Given the description of an element on the screen output the (x, y) to click on. 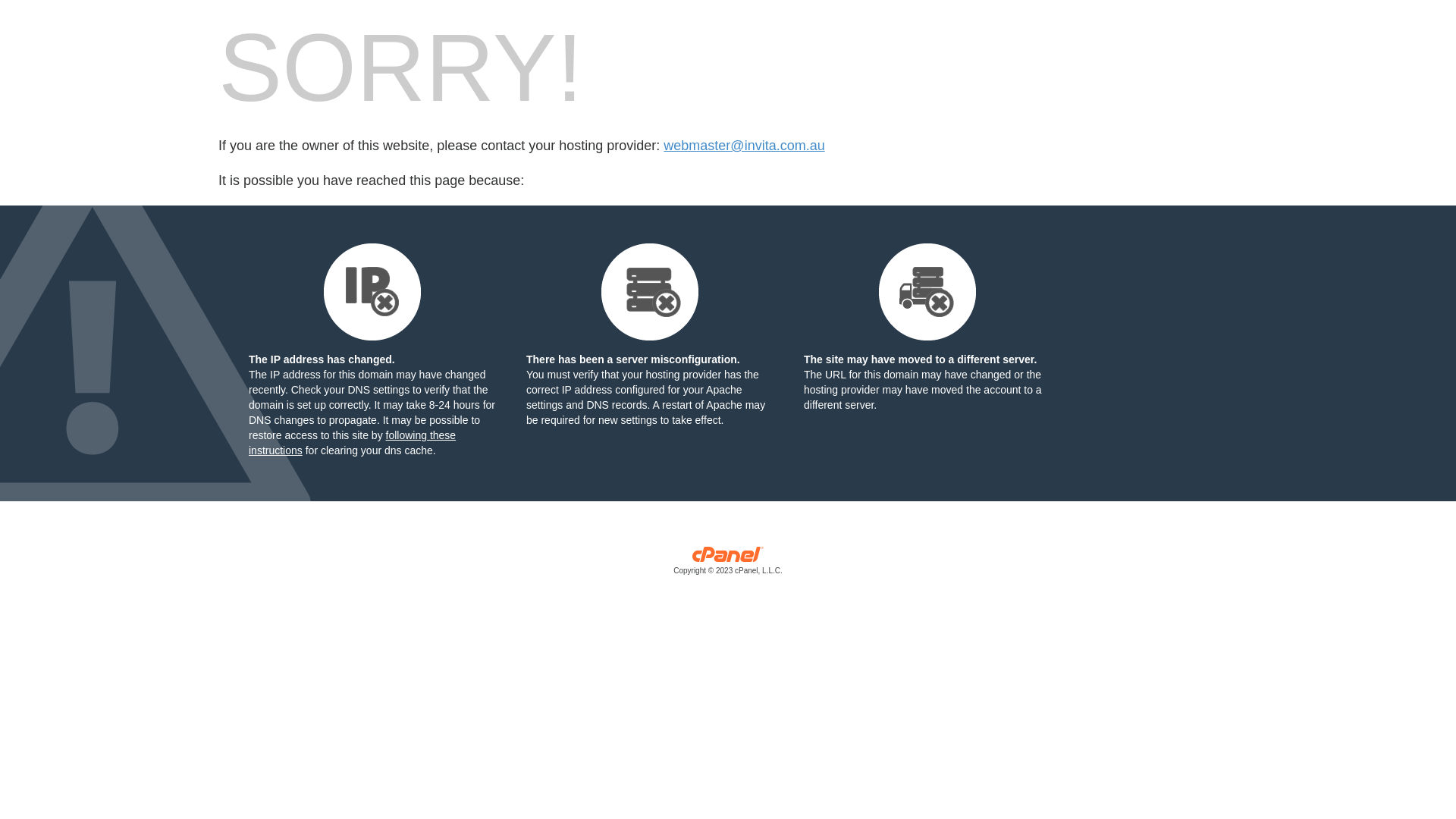
webmaster@invita.com.au Element type: text (743, 145)
following these instructions Element type: text (351, 442)
